Given the description of an element on the screen output the (x, y) to click on. 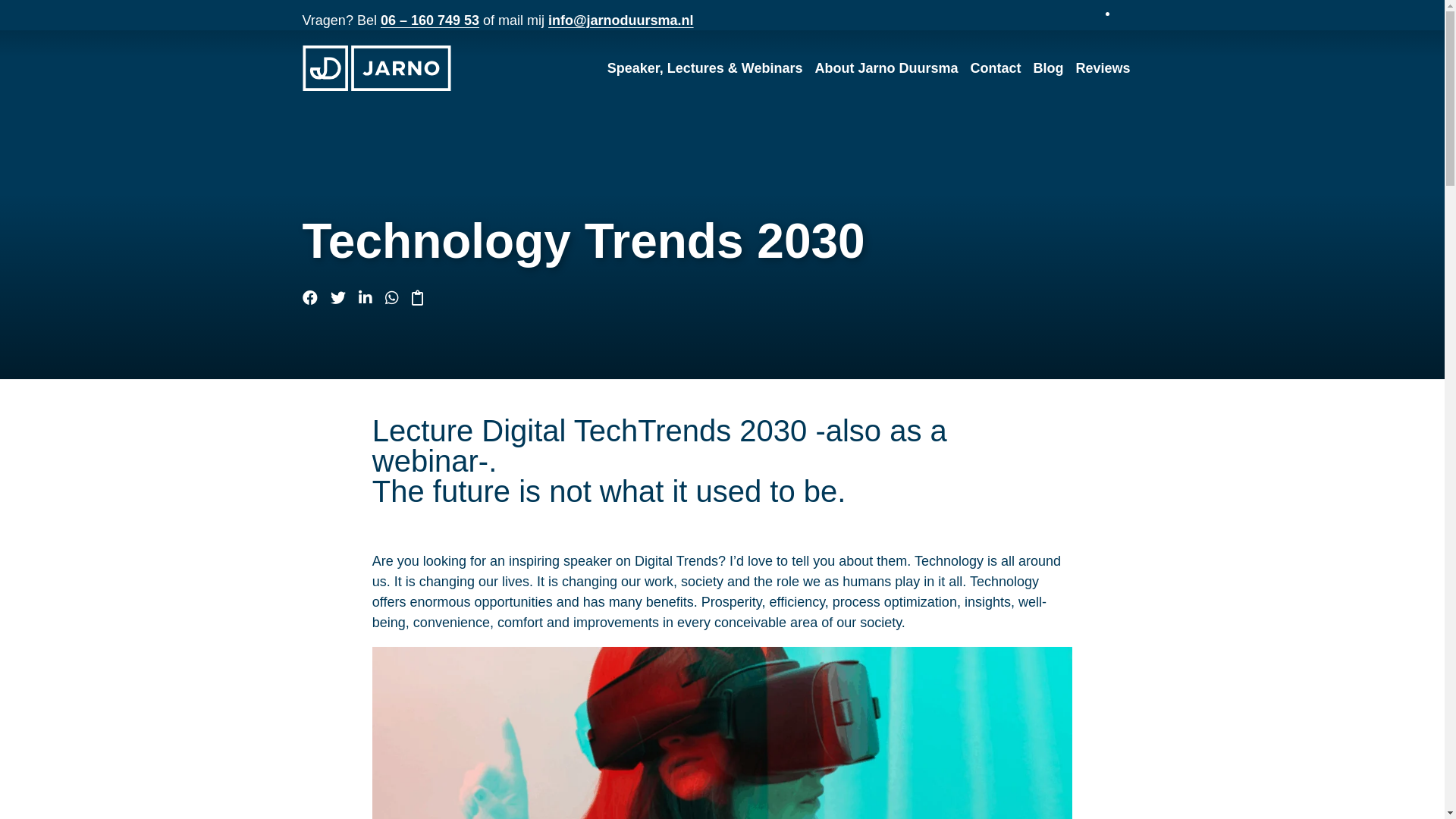
Contact (994, 68)
Reviews (1101, 68)
Kopieer link (422, 297)
Delen op Twitter (342, 297)
Delen op LinkedIn (369, 297)
About Jarno Duursma (885, 68)
Reviews (1101, 68)
Delen op WhatsApp (396, 297)
Delen op Facebook (313, 297)
Contact (994, 68)
Blog (1047, 68)
Blog (1047, 68)
About Jarno Duursma (885, 68)
